Given the description of an element on the screen output the (x, y) to click on. 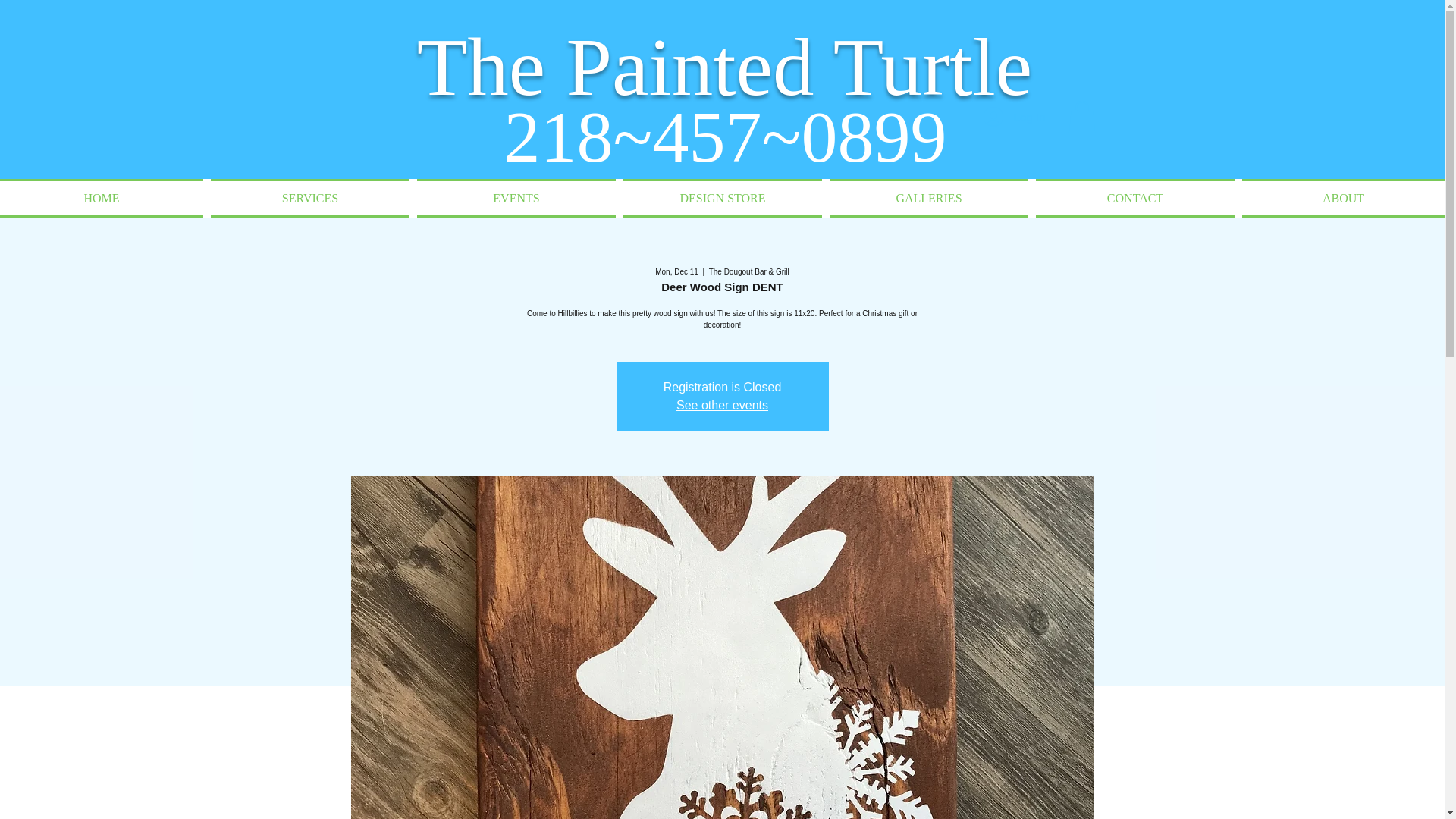
EVENTS (516, 198)
Log In (1014, 116)
DESIGN STORE (722, 198)
See other events (722, 404)
GALLERIES (928, 198)
HOME (103, 198)
SERVICES (309, 198)
CONTACT (1135, 198)
